Given the description of an element on the screen output the (x, y) to click on. 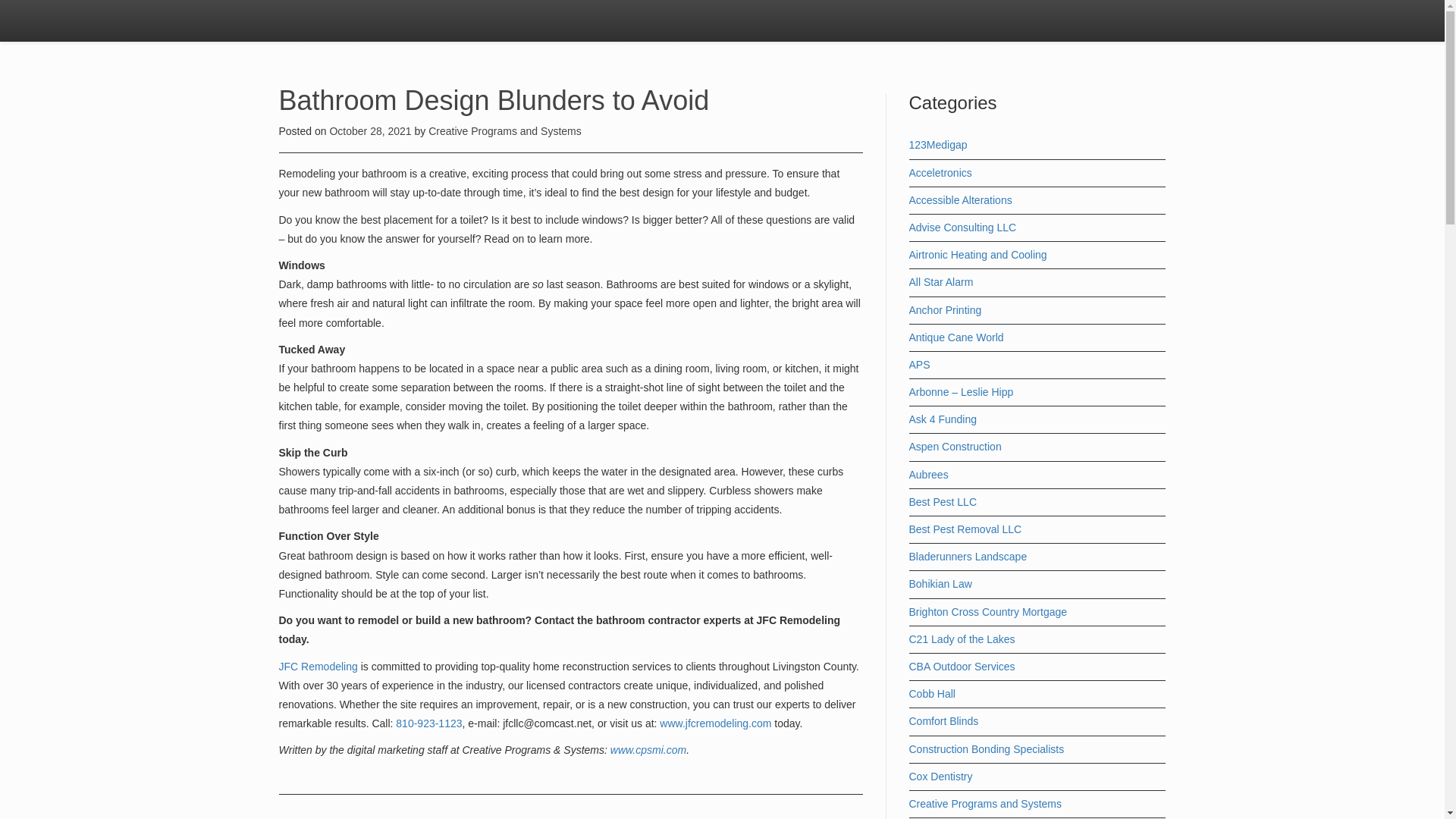
Acceletronics (939, 173)
Airtronic Heating and Cooling (977, 254)
Creative Programs and Systems (504, 131)
October 28, 2021 (371, 131)
Ask 4 Funding (942, 419)
www.cpsmi.com (647, 749)
Best Pest Removal LLC (965, 529)
APS (919, 364)
www.jfcremodeling.com (715, 723)
Bohikian Law (939, 583)
